Given the description of an element on the screen output the (x, y) to click on. 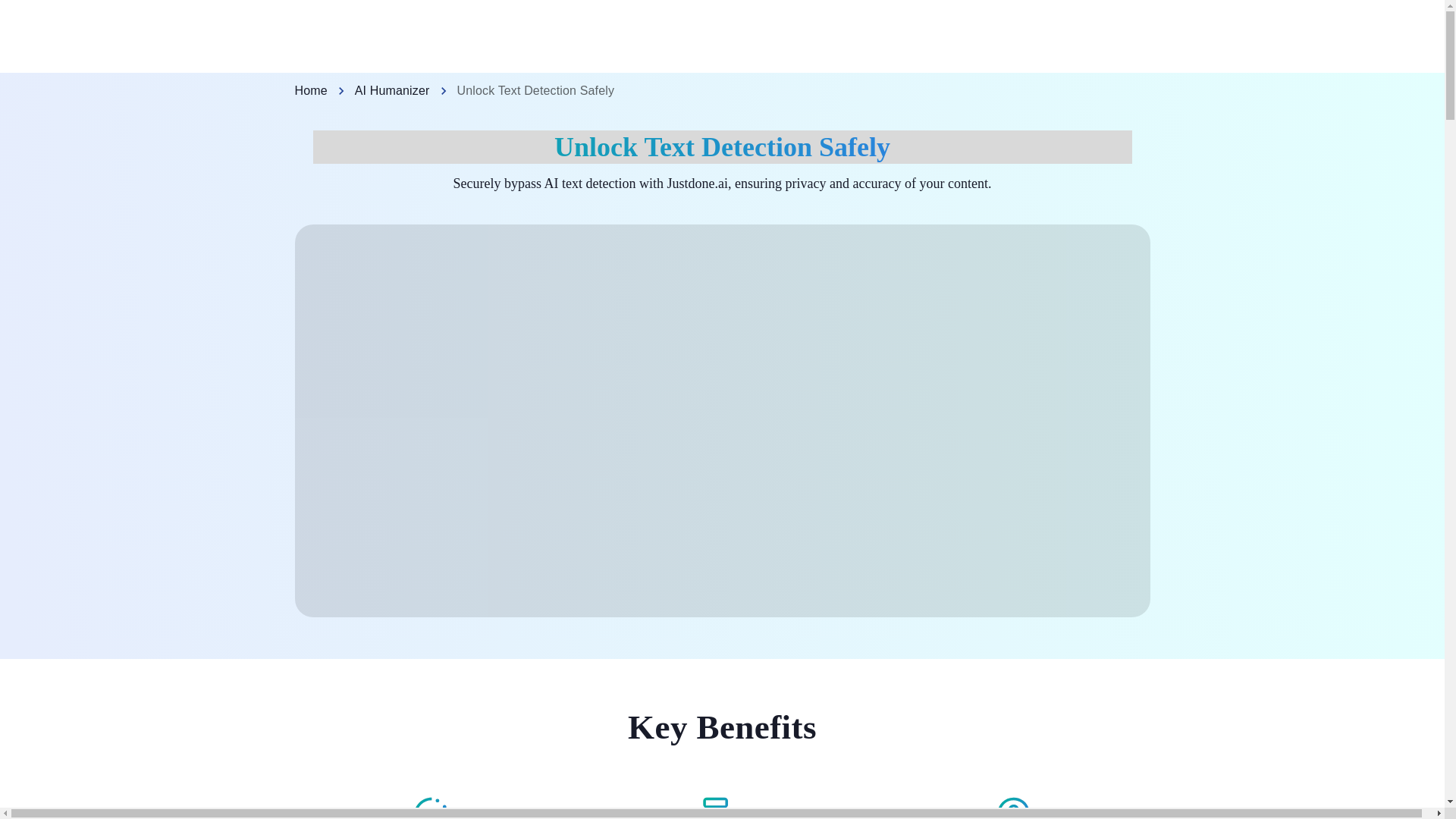
Home (310, 90)
AI Humanizer (392, 90)
